Given the description of an element on the screen output the (x, y) to click on. 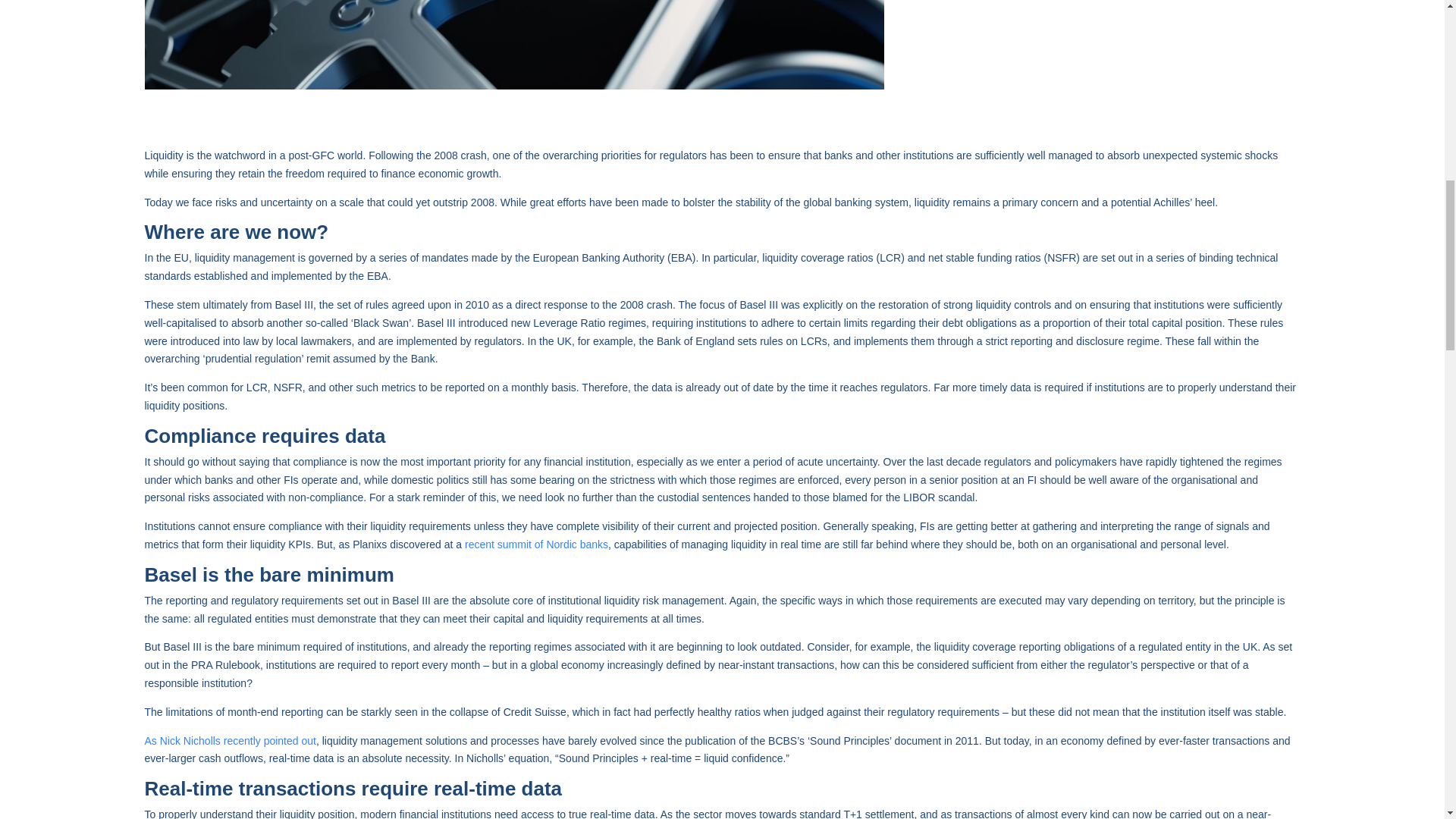
As Nick Nicholls recently pointed out (229, 740)
recent summit of Nordic banks (536, 544)
